Given the description of an element on the screen output the (x, y) to click on. 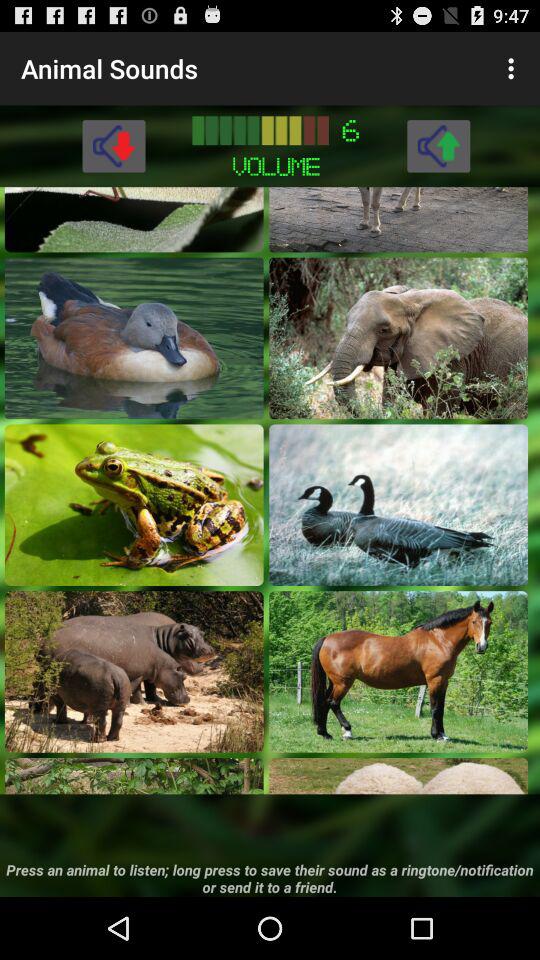
animal sound selection (398, 219)
